Given the description of an element on the screen output the (x, y) to click on. 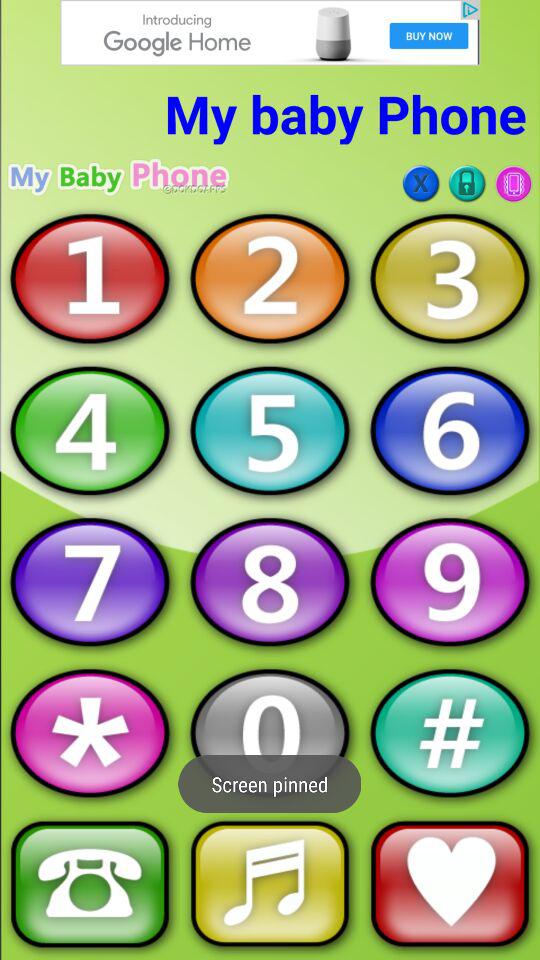
turn on/off vibrate (513, 183)
